Given the description of an element on the screen output the (x, y) to click on. 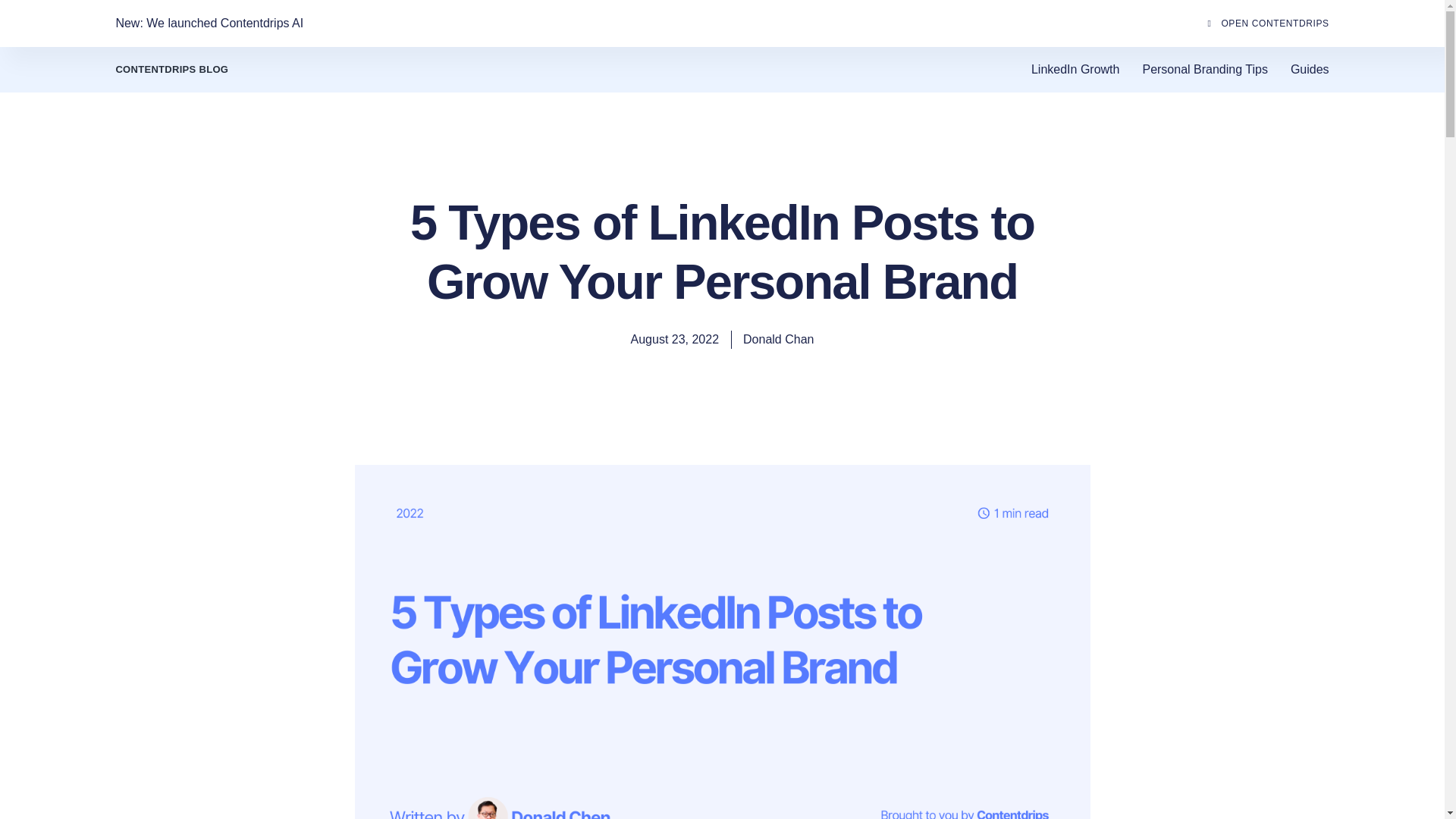
August 23, 2022 (674, 339)
Donald Chan (777, 339)
LinkedIn Growth (1074, 69)
Personal Branding Tips (1203, 69)
CONTENTDRIPS BLOG (171, 69)
OPEN CONTENTDRIPS (1263, 23)
Guides (1309, 69)
